Given the description of an element on the screen output the (x, y) to click on. 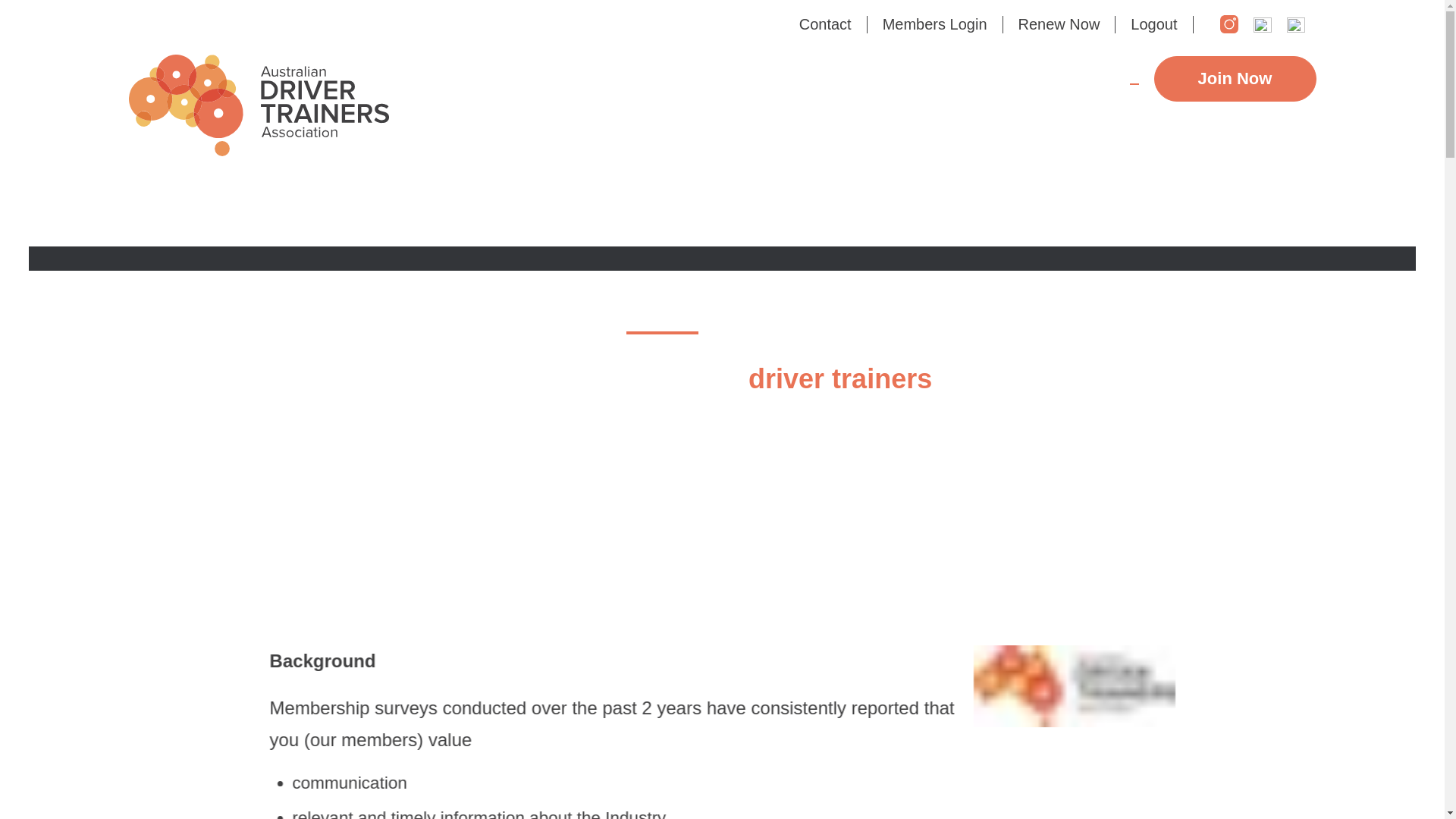
Logout (1153, 23)
Contact (825, 23)
Renew Now (1058, 23)
Members Login (934, 23)
